Given the description of an element on the screen output the (x, y) to click on. 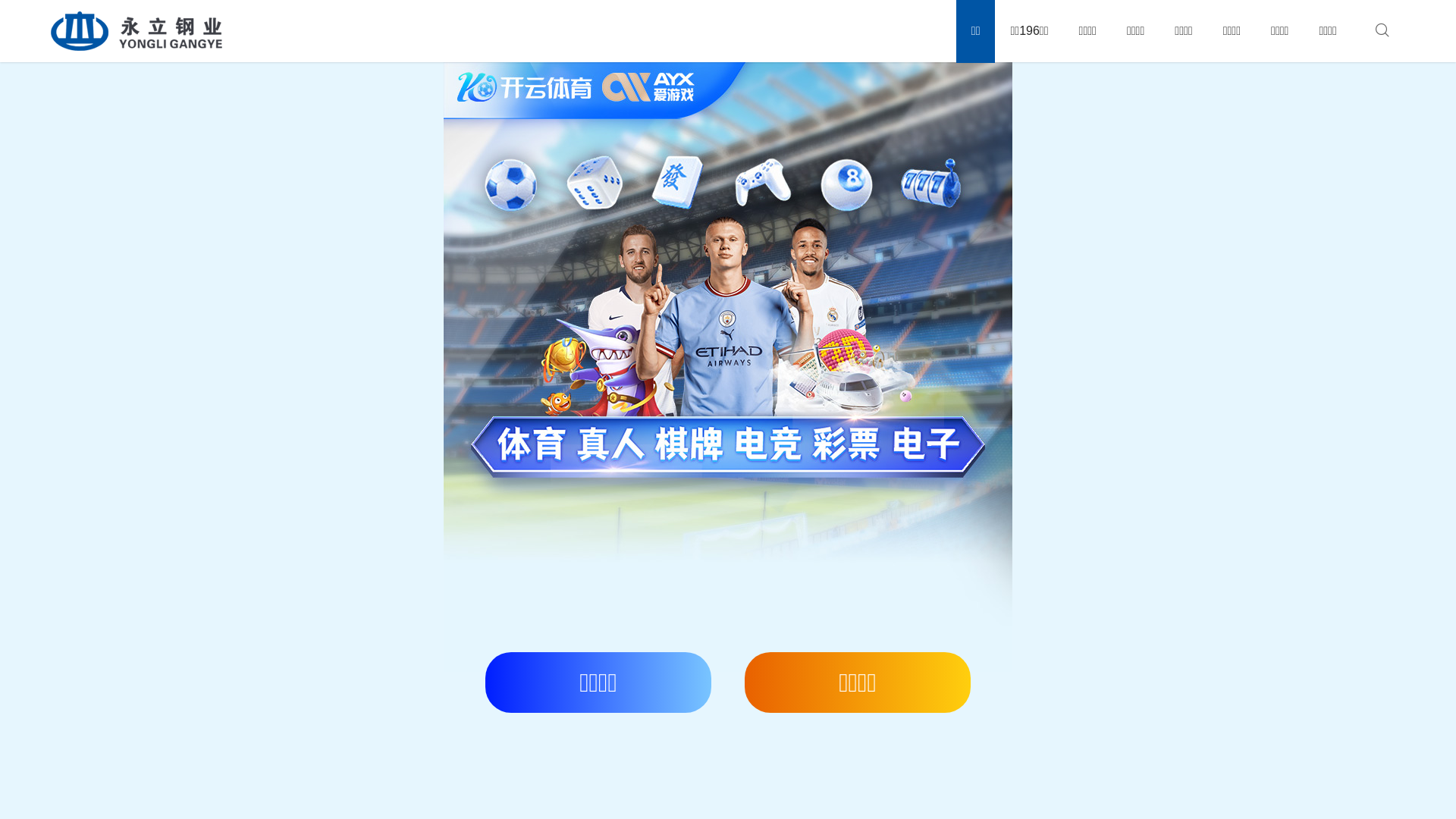
< Element type: text (30, 335)
> Element type: text (1425, 335)
